Given the description of an element on the screen output the (x, y) to click on. 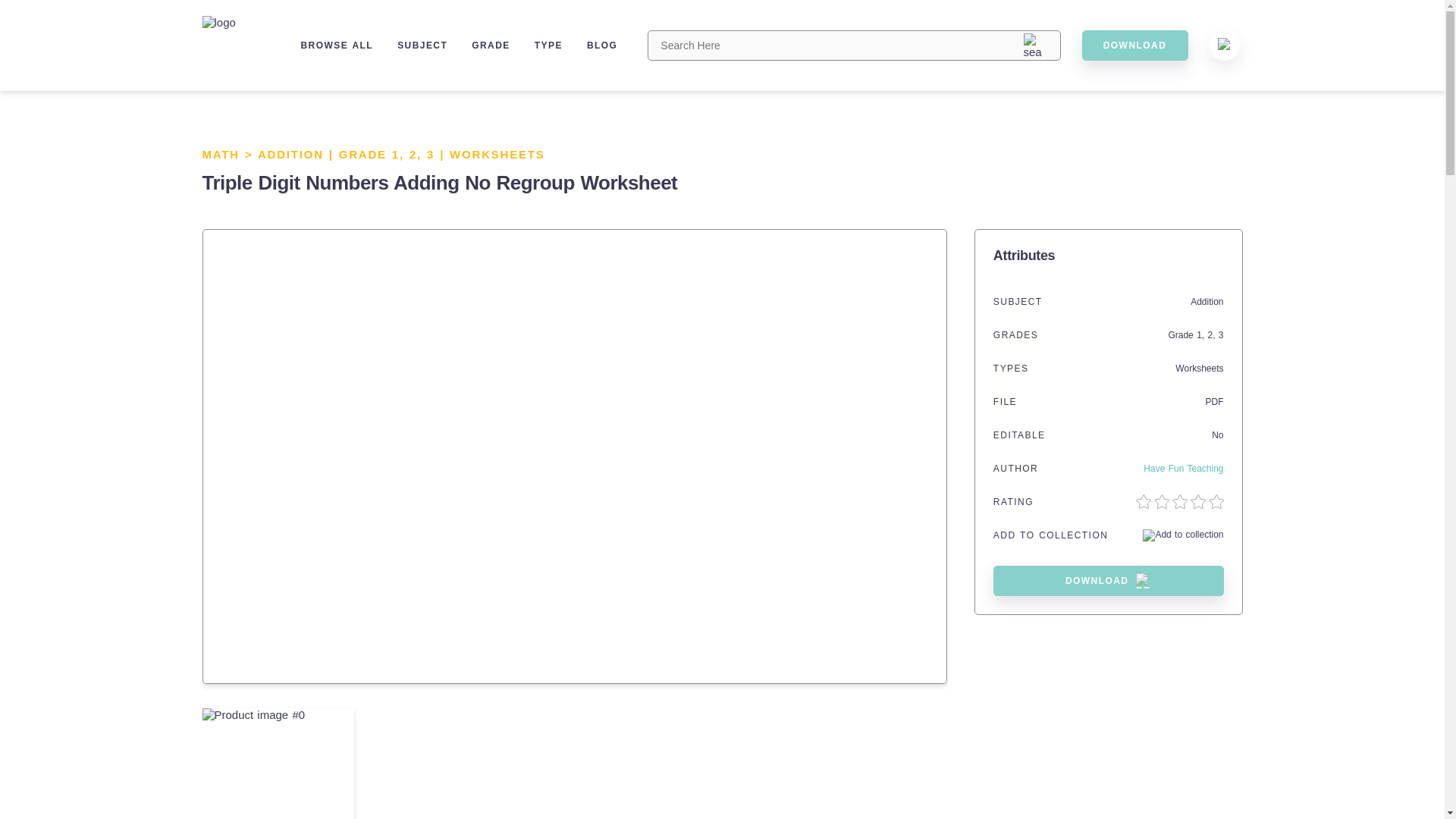
BLOG (601, 45)
1, (1201, 335)
DOWNLOAD (1134, 45)
DOWNLOAD (1108, 580)
2, (1212, 335)
Addition (1207, 301)
Worksheets (1198, 368)
Have Fun Teaching (1182, 468)
1, (400, 154)
2, (417, 154)
